Given the description of an element on the screen output the (x, y) to click on. 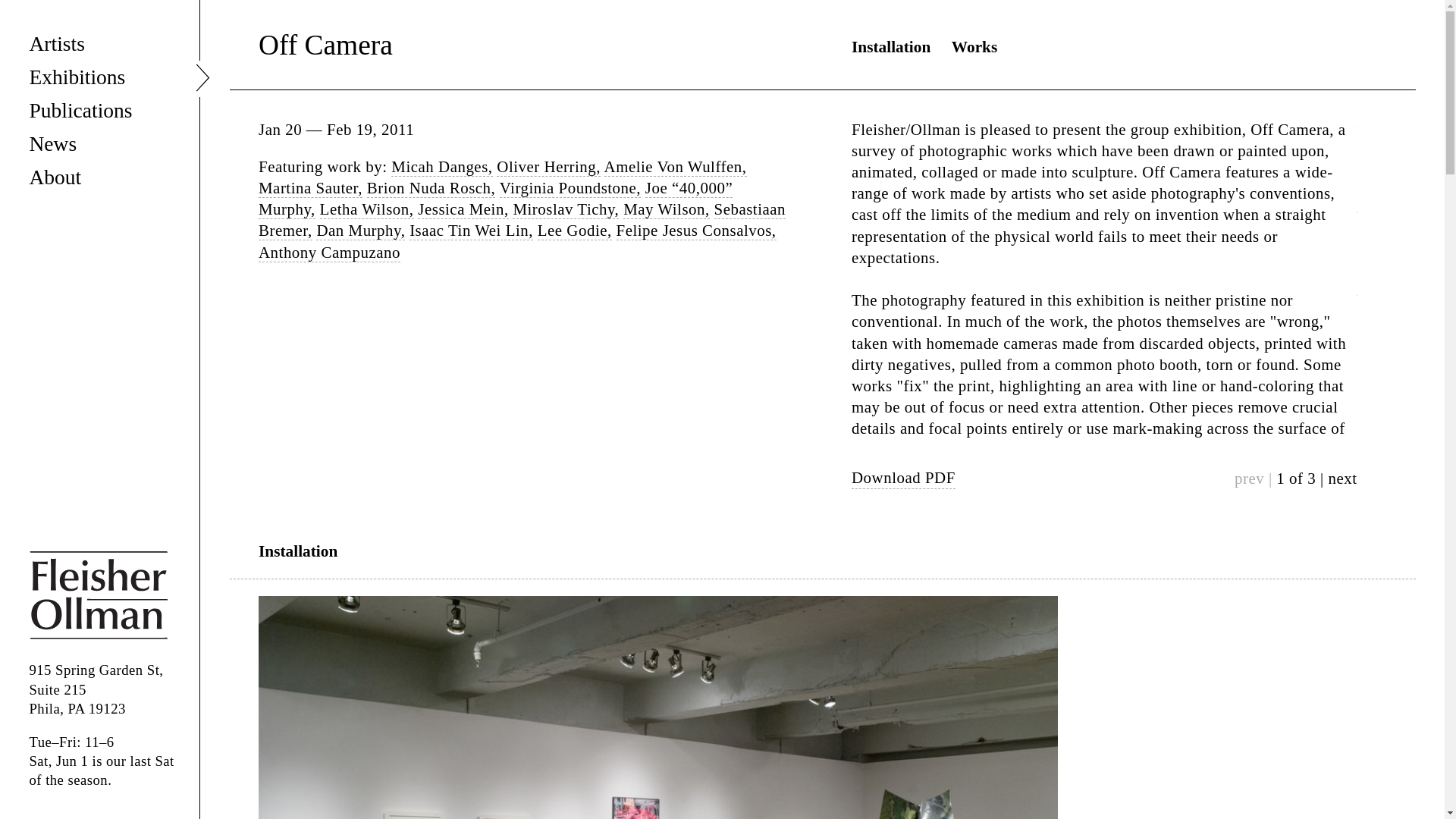
May Wilson, (666, 209)
Dan Murphy, (359, 230)
Letha Wilson, (366, 209)
Amelie Von Wulffen, (675, 167)
Works (974, 47)
Anthony Campuzano (329, 252)
Oliver Herring, (547, 167)
Brion Nuda Rosch, (431, 188)
Virginia Poundstone, (569, 188)
Sebastiaan Bremer, (522, 219)
News (99, 143)
Download PDF (903, 477)
Felipe Jesus Consalvos, (695, 230)
Miroslav Tichy, (565, 209)
Artists (99, 43)
